Given the description of an element on the screen output the (x, y) to click on. 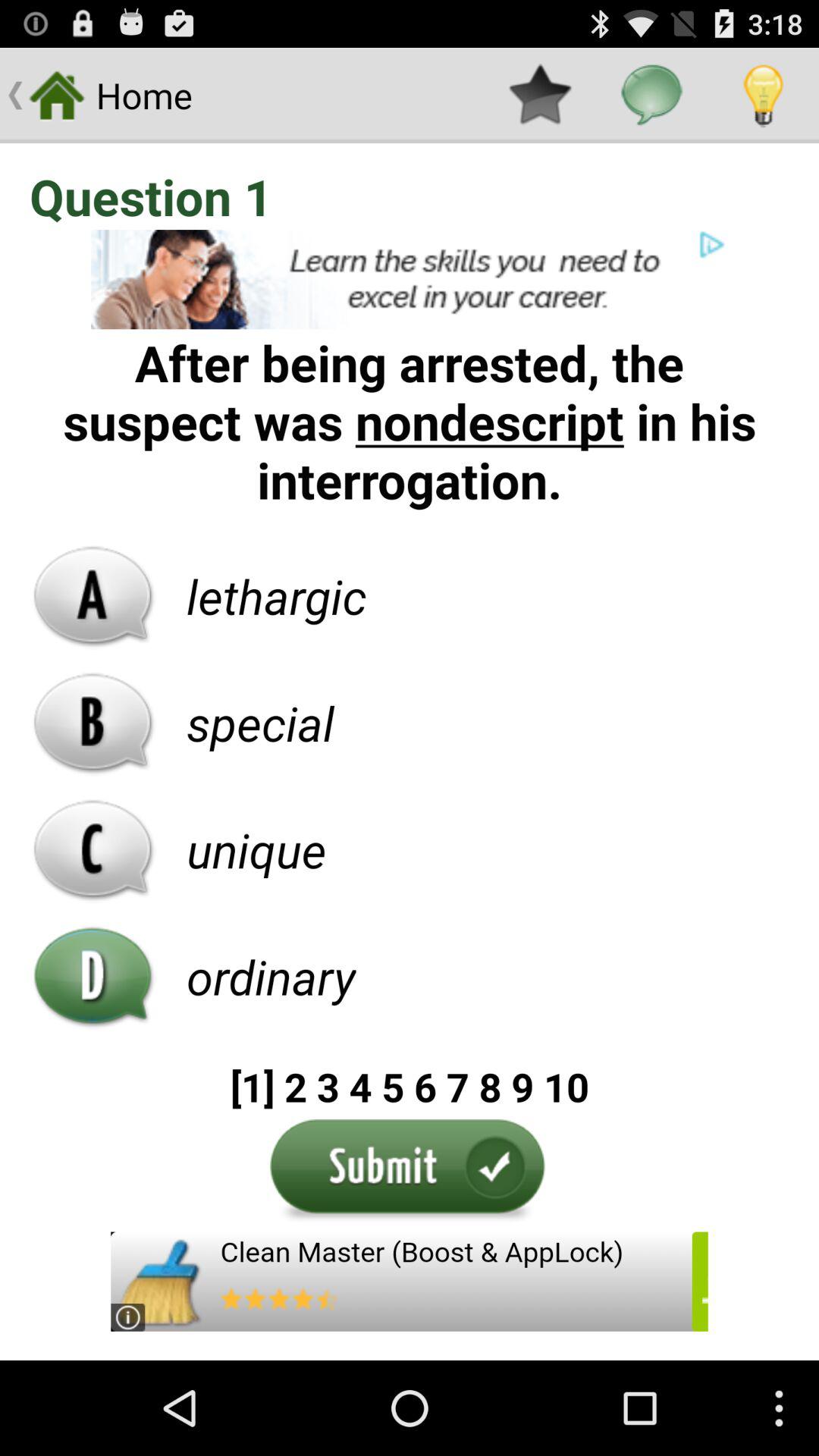
advertisement (409, 1281)
